Given the description of an element on the screen output the (x, y) to click on. 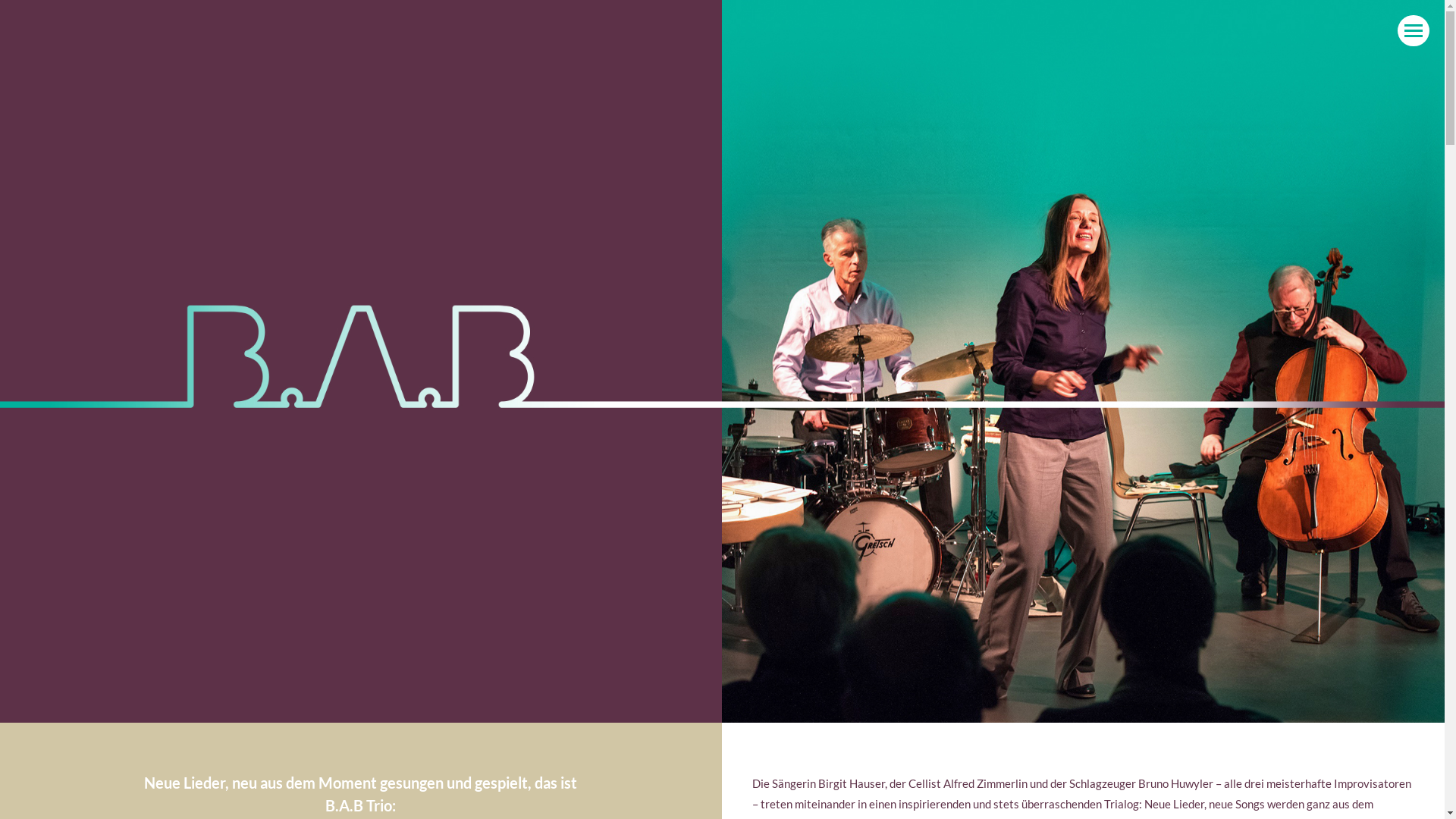
header rechts bab Element type: hover (1082, 361)
header links bab Element type: hover (361, 361)
